Given the description of an element on the screen output the (x, y) to click on. 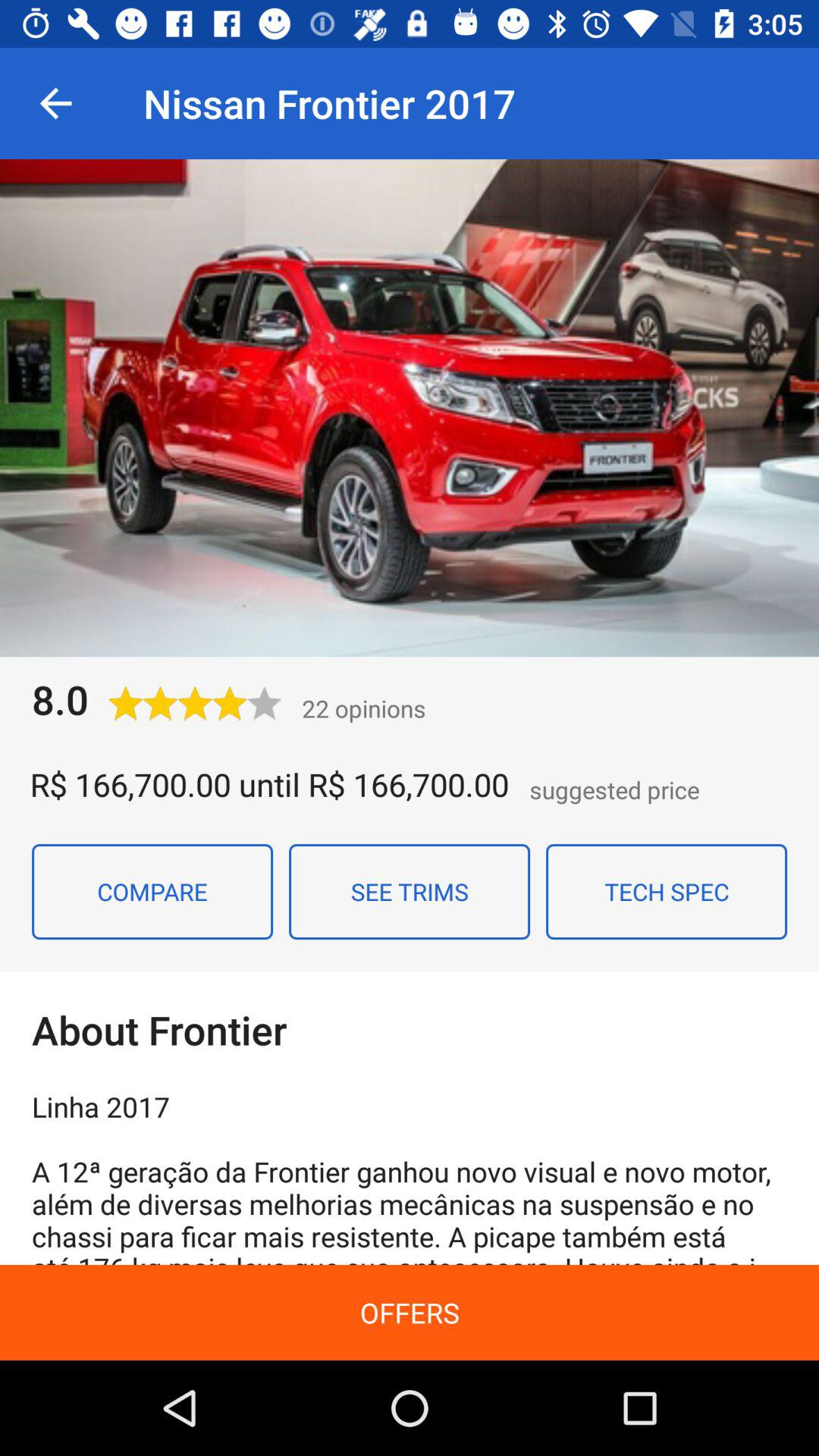
open icon next to compare icon (409, 891)
